Given the description of an element on the screen output the (x, y) to click on. 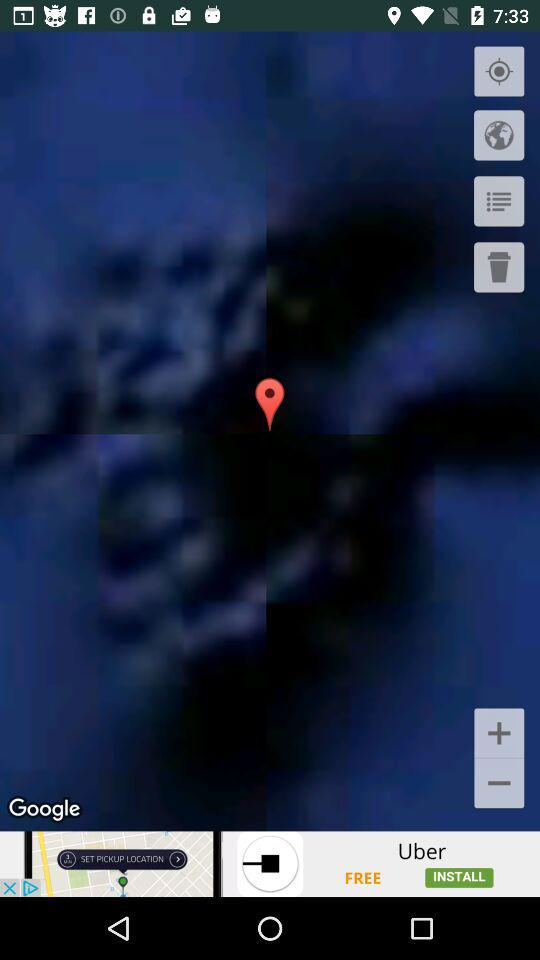
delete it (499, 267)
